Given the description of an element on the screen output the (x, y) to click on. 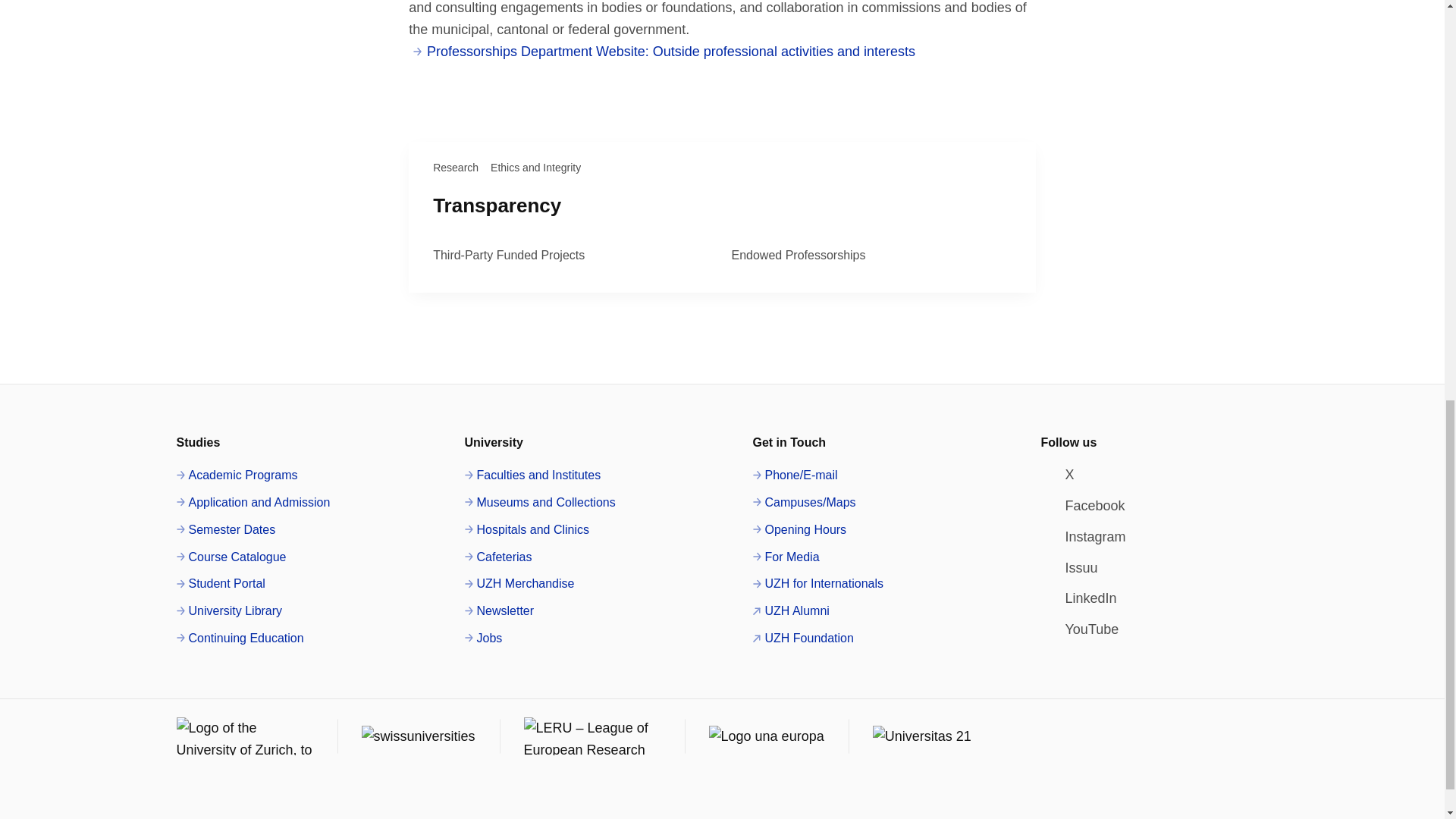
Opening Hours (798, 529)
Course Catalogue (230, 557)
Academic Programs (236, 475)
UZH Merchandise (518, 583)
For Media (785, 557)
UZH for Internationals (817, 583)
Newsletter (499, 610)
Student Portal (220, 583)
Museums and Collections (539, 502)
University Library (229, 610)
